Given the description of an element on the screen output the (x, y) to click on. 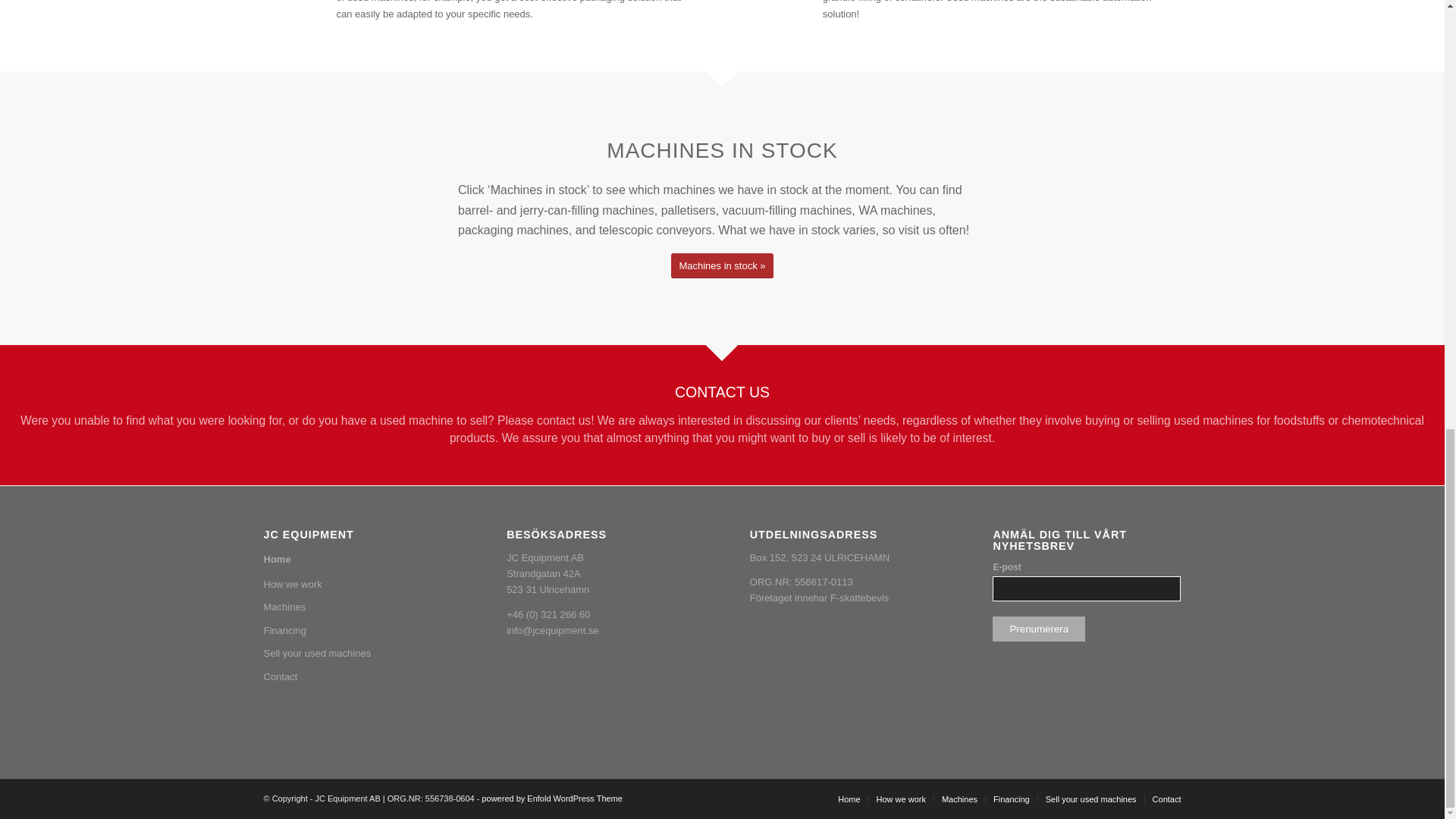
Sell your used machines (1091, 798)
Prenumerera (1038, 628)
Contact (357, 676)
How we work (357, 584)
Machines (959, 798)
Financing (357, 630)
Financing (1010, 798)
Home (357, 559)
Sell your used machines (357, 653)
Prenumerera (1038, 628)
powered by Enfold WordPress Theme (551, 798)
Contact (1166, 798)
How we work (901, 798)
Home (849, 798)
Machines (357, 607)
